Given the description of an element on the screen output the (x, y) to click on. 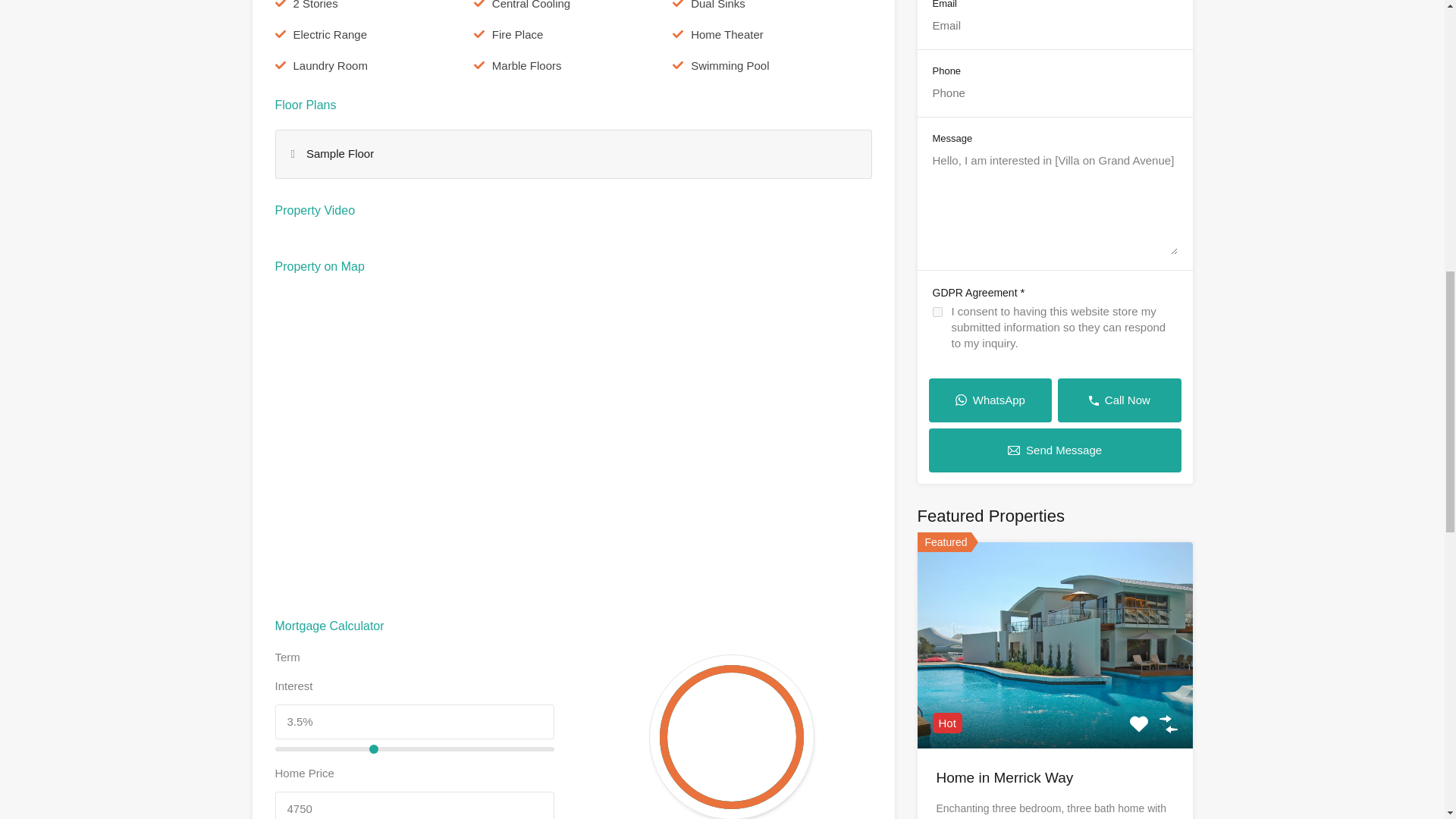
3.5 (414, 748)
4750 (414, 805)
